Given the description of an element on the screen output the (x, y) to click on. 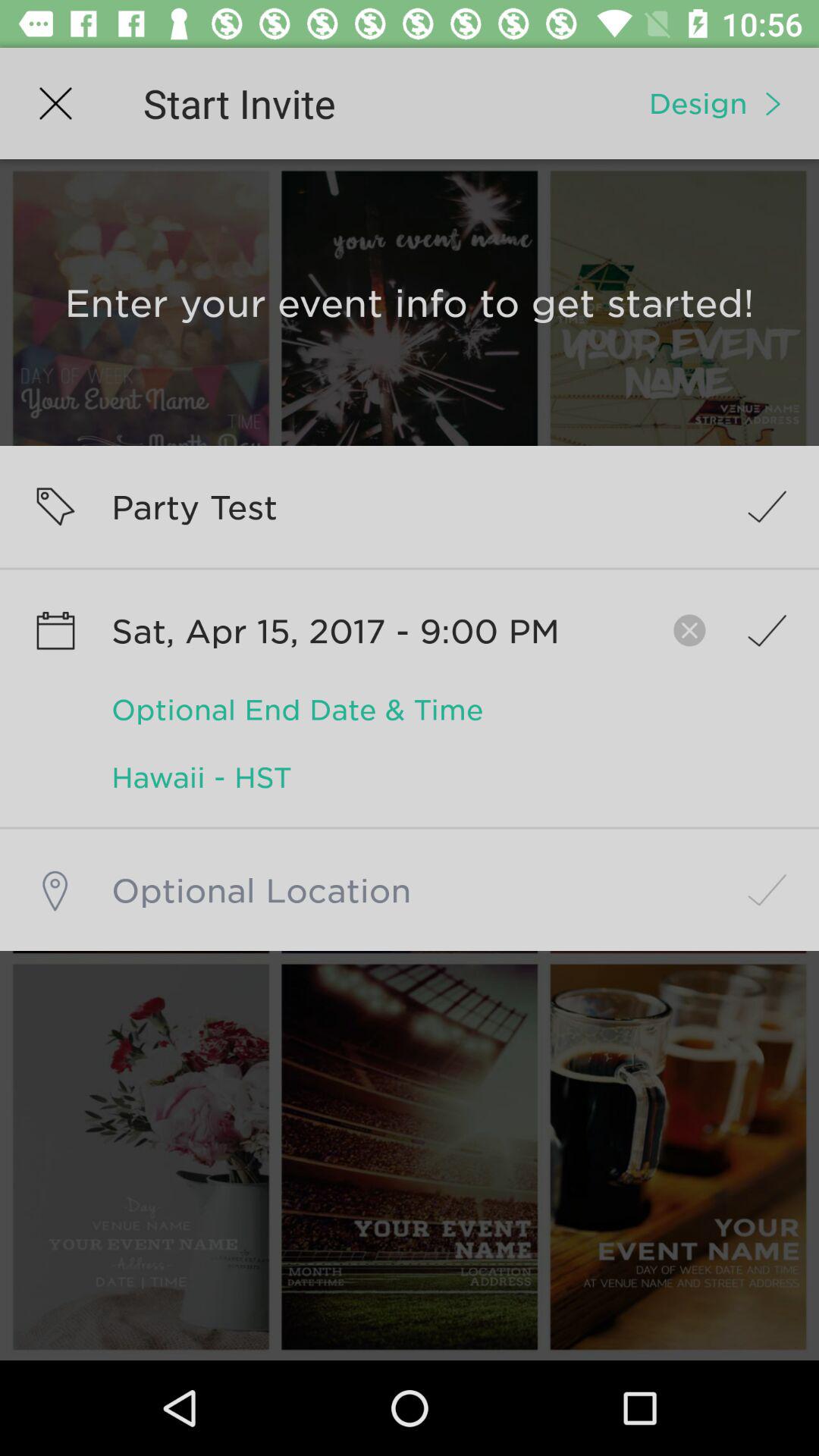
select location (409, 889)
